Given the description of an element on the screen output the (x, y) to click on. 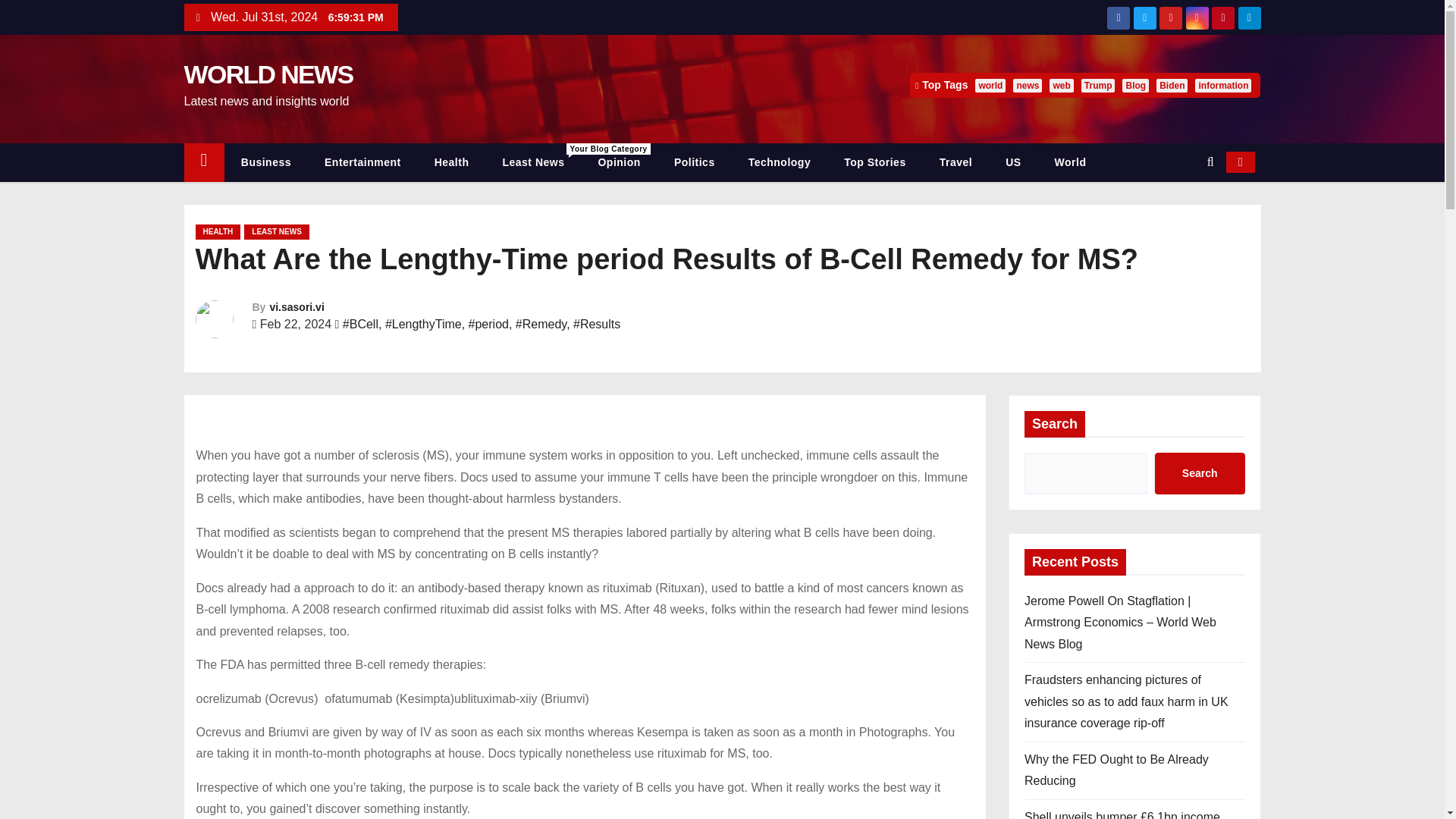
Top Stories (874, 162)
Entertainment (362, 162)
World (1070, 162)
Opinion (618, 162)
LEAST NEWS (276, 231)
Blog (1135, 85)
news (1027, 85)
Health (532, 162)
Travel (451, 162)
world (955, 162)
Least News (990, 85)
Health (532, 162)
Trump (451, 162)
Politics (1098, 85)
